Given the description of an element on the screen output the (x, y) to click on. 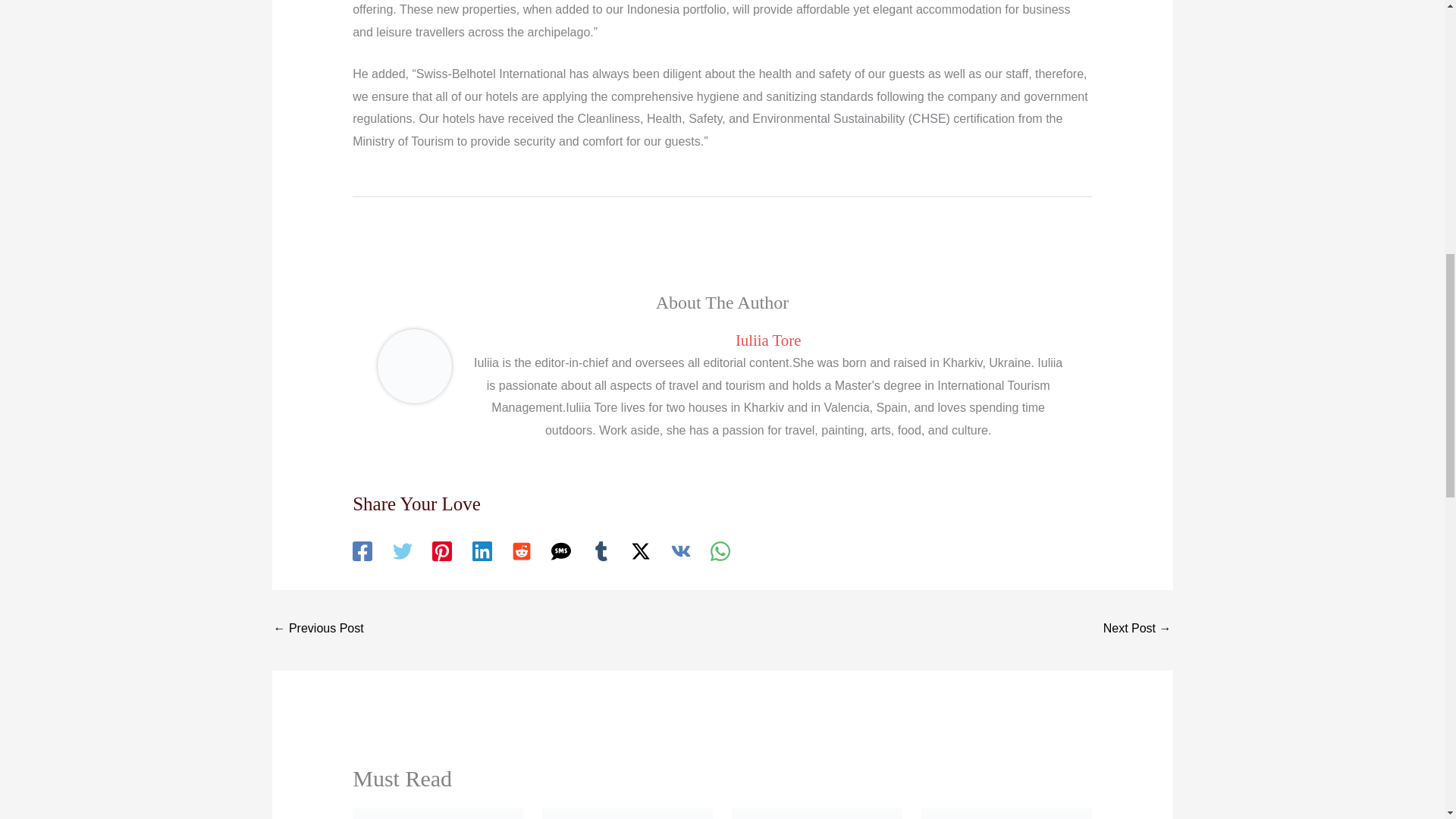
Indonesia Visa-Free Policy Is Suspended for 159 Countries 5 (817, 813)
Gulf Air to Trial IATA Travel Pass (1137, 629)
Fred Olsen Cruise Lines Unveils 80-Day Cruise (317, 629)
Indonesia to Launch Golden Visa Program 6 (1006, 813)
